Given the description of an element on the screen output the (x, y) to click on. 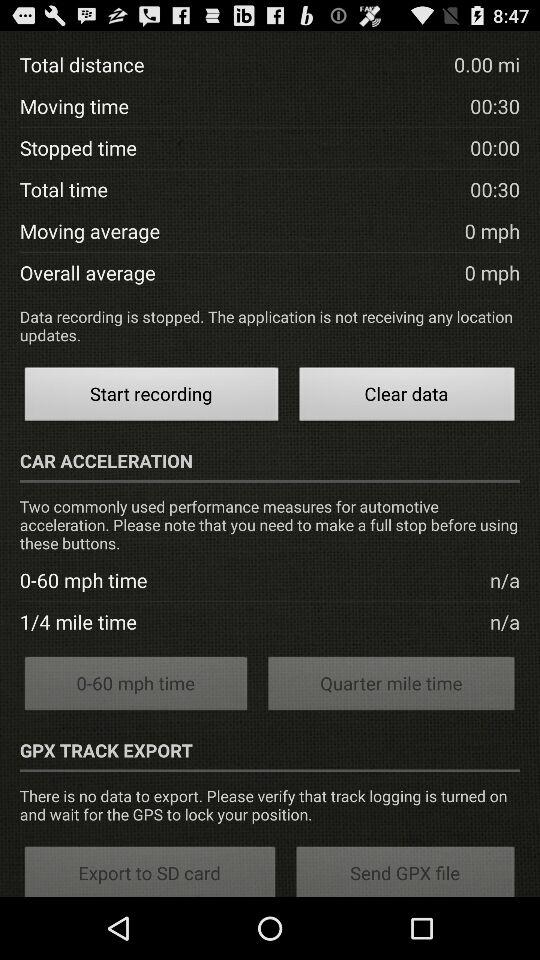
turn on the icon below the there is no (405, 870)
